Given the description of an element on the screen output the (x, y) to click on. 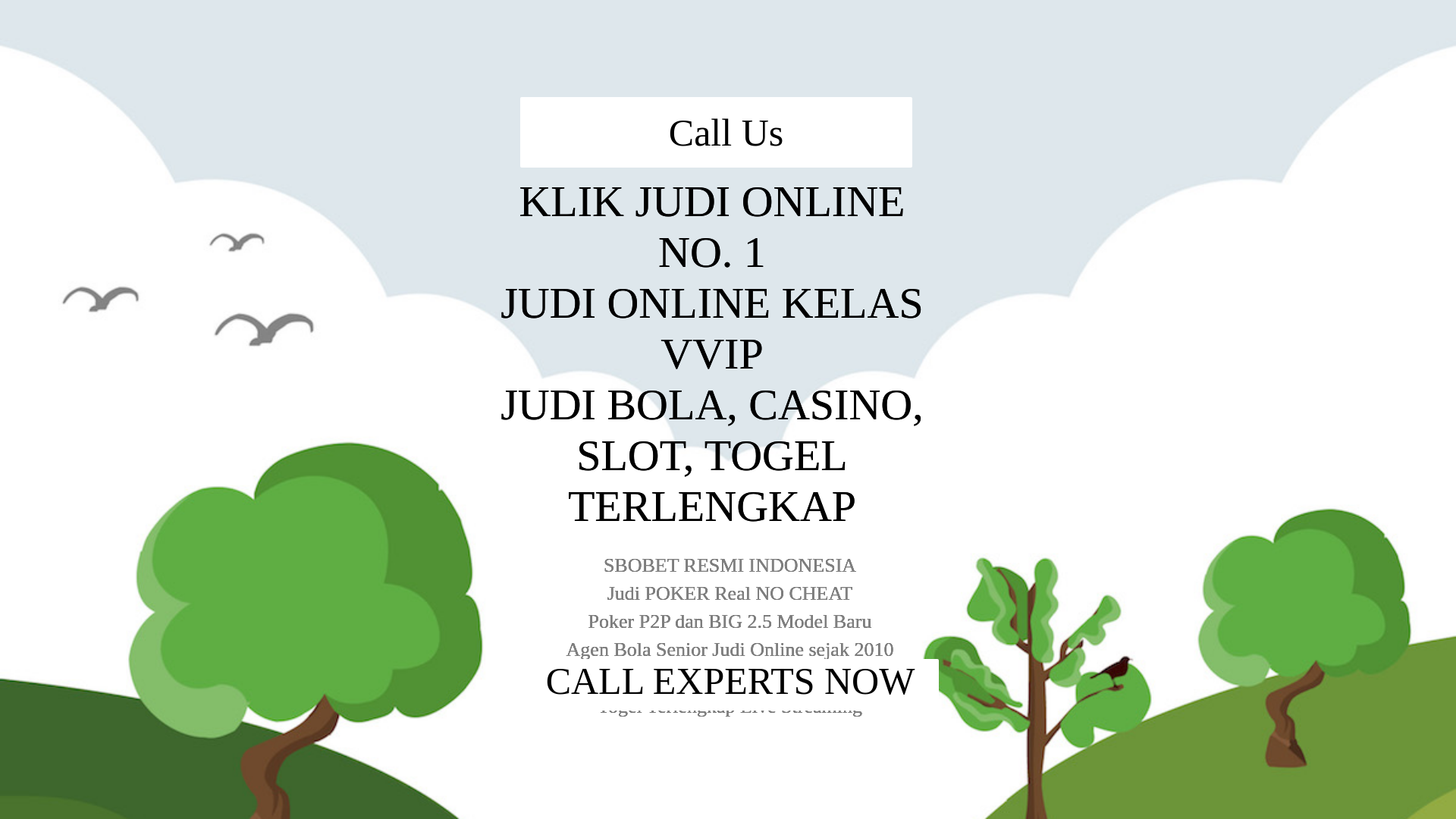
Togel Terlengkap Live Streaming (727, 511)
Call Us (727, 568)
ibosport alternatif (697, 249)
Agen Bola Senior Judi Online sejak 2010 (727, 461)
SBOBET RESMI INDONESIA (727, 385)
Poker P2P dan BIG 2.5 Model Baru (728, 435)
KOLAMHOKI.COM (397, 25)
Judi Online Kelas VVIP (727, 308)
Judi POKER Real NO CHEAT (726, 411)
Call Us (1133, 32)
KLIK JUDI ONLINE No. 1 (727, 276)
Judi Bola, Casino, Slot, Togel Terlengkap (727, 341)
